Given the description of an element on the screen output the (x, y) to click on. 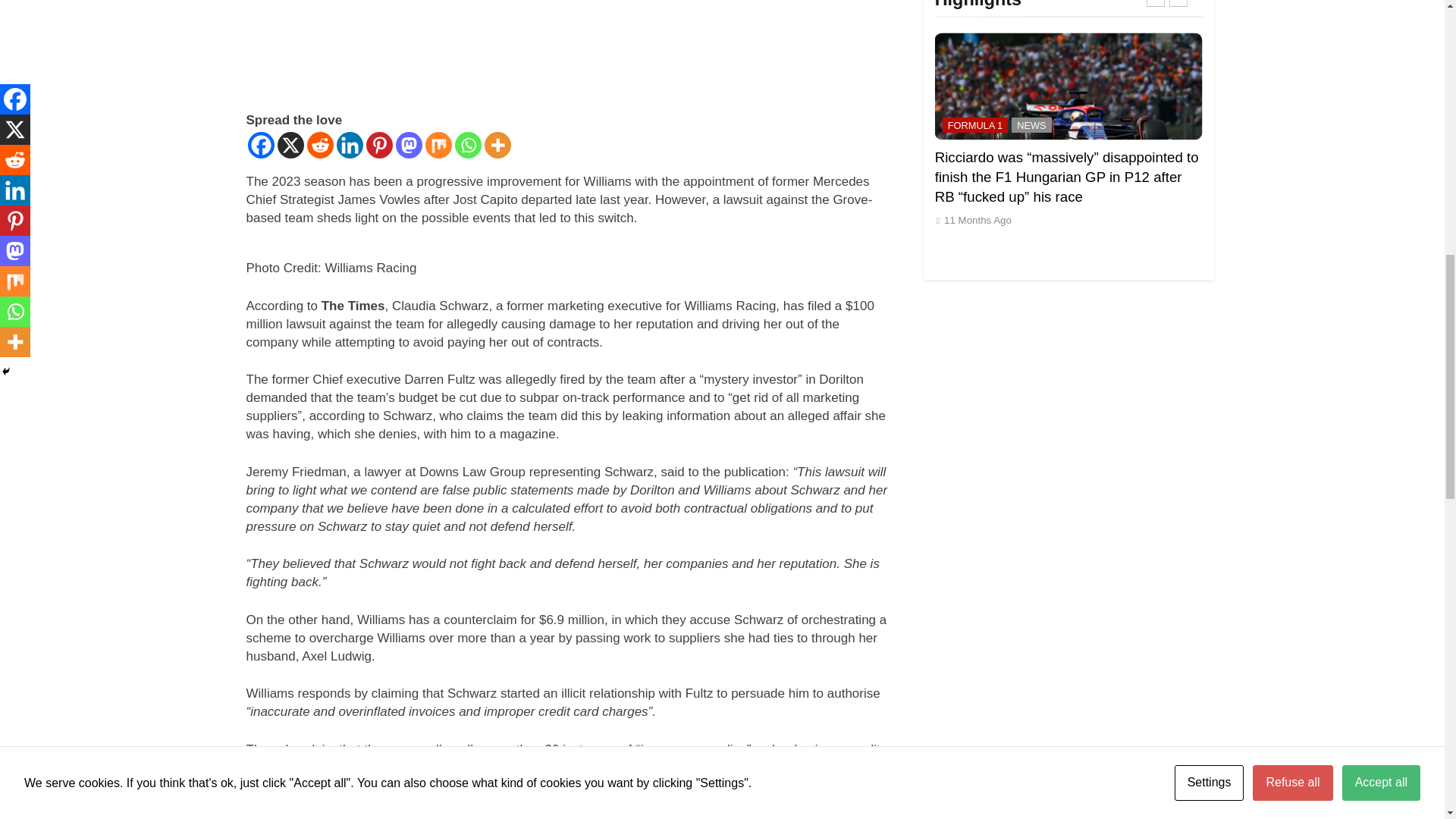
Whatsapp (467, 144)
X (291, 144)
More (497, 144)
Linkedin (349, 144)
Facebook (260, 144)
Reddit (319, 144)
Mastodon (409, 144)
Pinterest (378, 144)
Mix (438, 144)
